Given the description of an element on the screen output the (x, y) to click on. 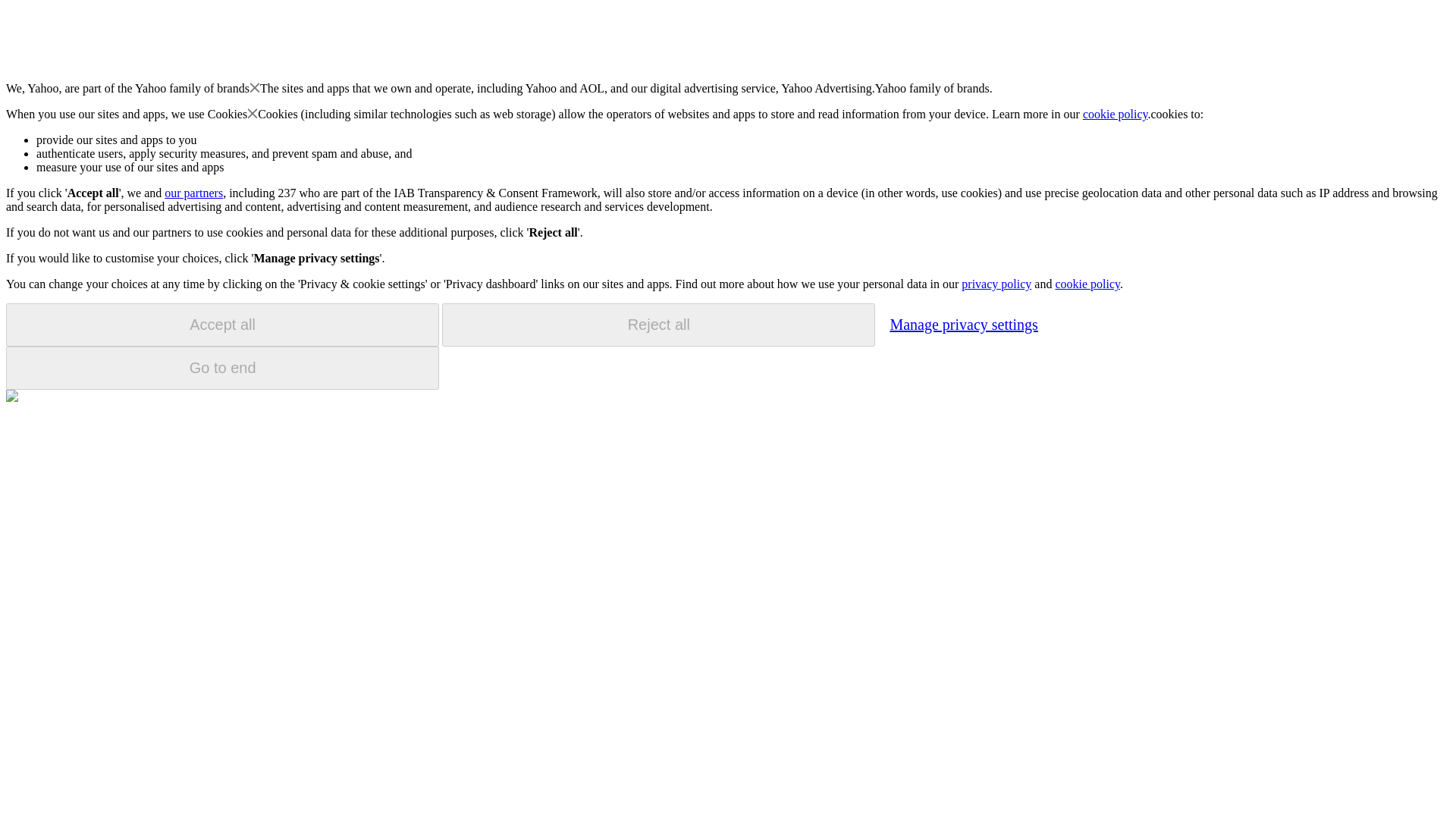
Manage privacy settings (963, 323)
privacy policy (995, 283)
Reject all (658, 324)
Accept all (222, 324)
cookie policy (1115, 113)
cookie policy (1086, 283)
our partners (193, 192)
Go to end (222, 367)
